Given the description of an element on the screen output the (x, y) to click on. 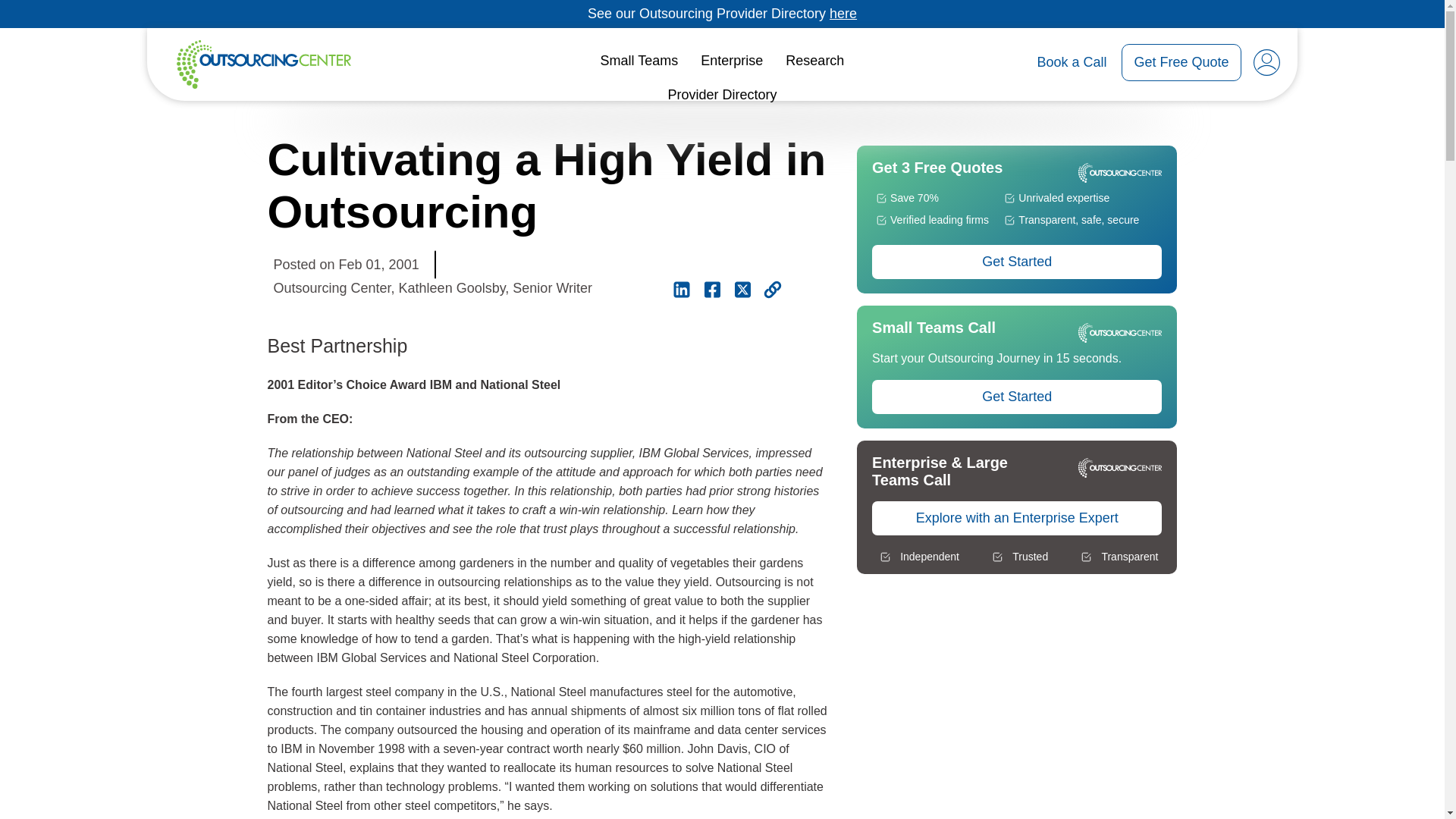
share (771, 289)
here (843, 13)
linkedin (681, 289)
twitter (742, 289)
Get Free Quote (1180, 62)
Book a Call (1071, 61)
Small Teams (639, 60)
Account (1265, 62)
facebook (711, 289)
